Given the description of an element on the screen output the (x, y) to click on. 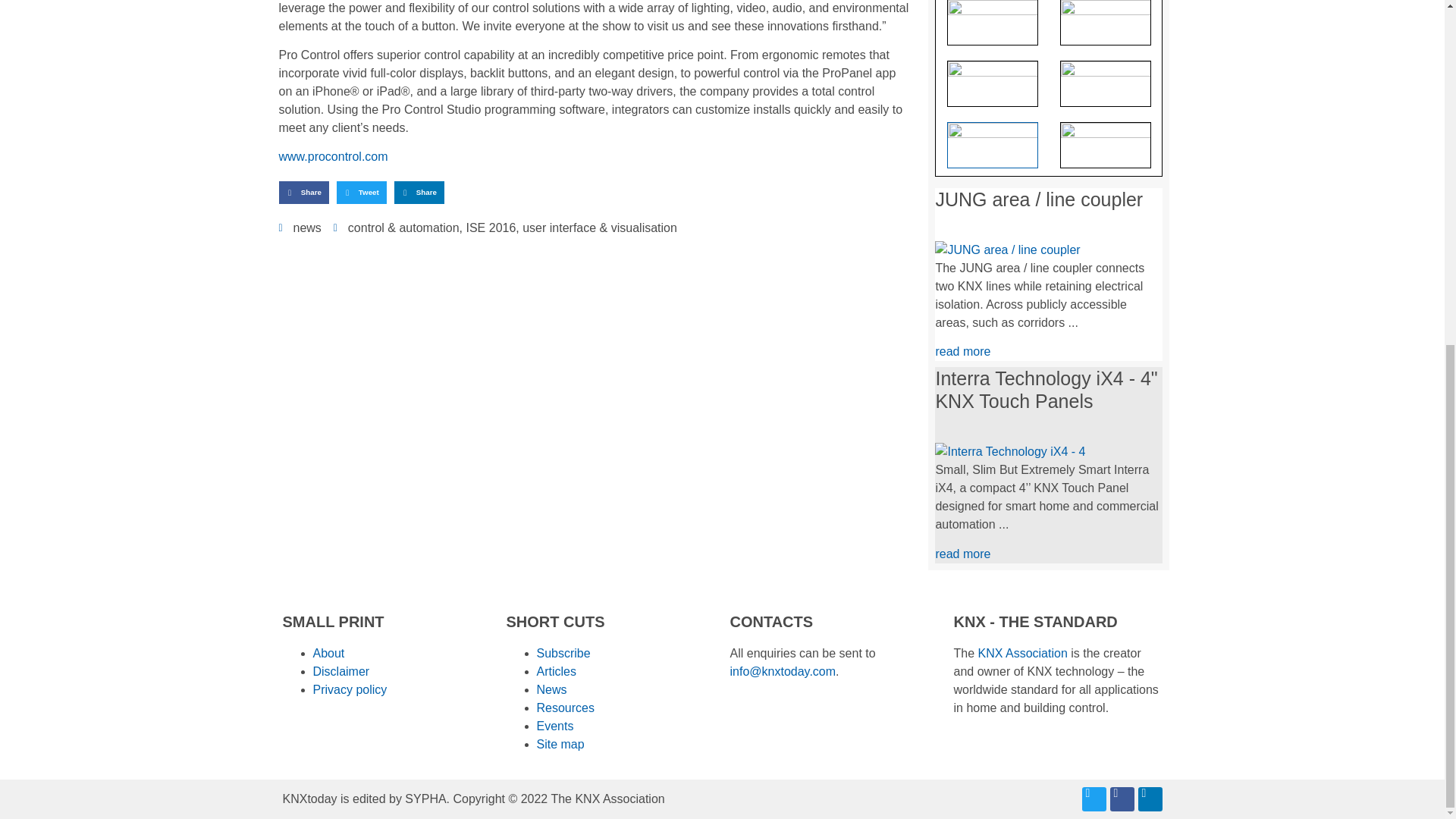
Interra Technology iX4 - 4 (1009, 452)
ISE 2016 (490, 227)
Interra Technology iX4 - 4 (1009, 451)
news (306, 227)
www.procontrol.com (333, 155)
